Given the description of an element on the screen output the (x, y) to click on. 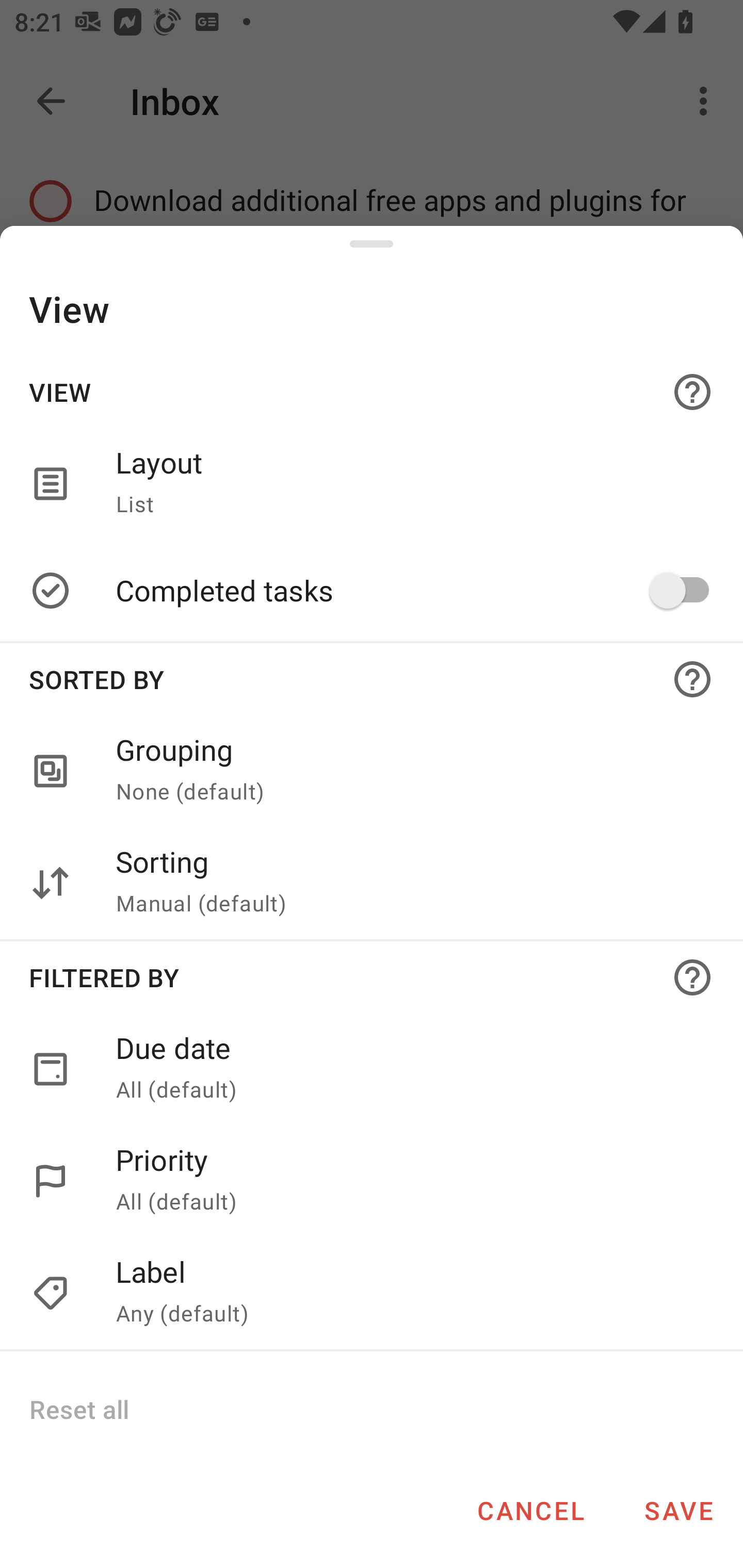
Layout List (371, 483)
Layout List (407, 483)
Completed tasks (407, 590)
SORTED BY (371, 678)
Grouping None (default) (371, 771)
Grouping None (default) (407, 771)
Sorting Manual (default) (371, 883)
Sorting Manual (default) (407, 883)
FILTERED BY (371, 976)
Due date All (default) (371, 1068)
Due date All (default) (407, 1068)
Priority All (default) (371, 1181)
Priority All (default) (407, 1181)
Label Any (default) (371, 1293)
Label Any (default) (407, 1293)
Reset all (78, 1408)
CANCEL (530, 1510)
SAVE (678, 1510)
